Given the description of an element on the screen output the (x, y) to click on. 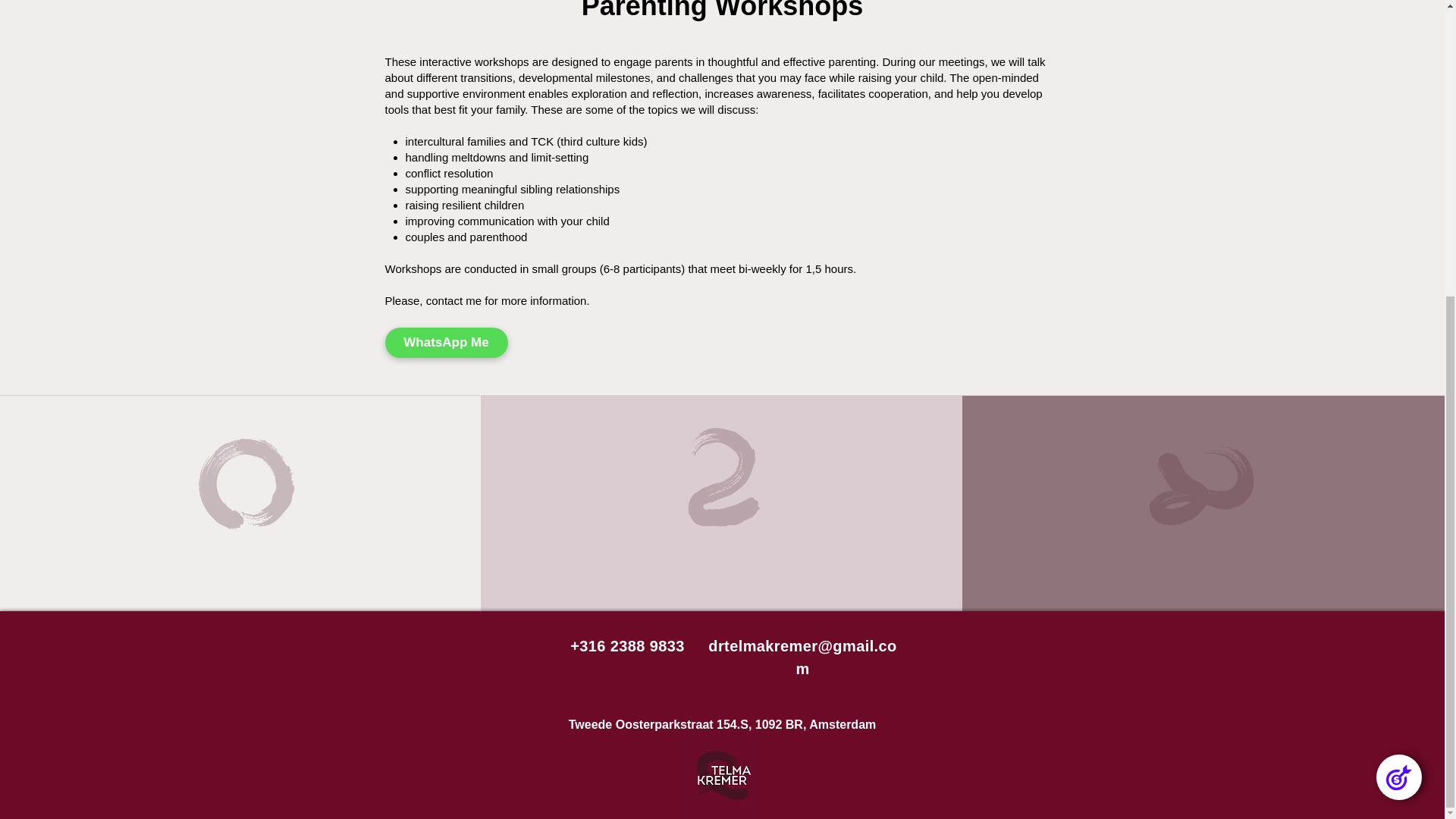
WhatsApp Me (446, 342)
